Given the description of an element on the screen output the (x, y) to click on. 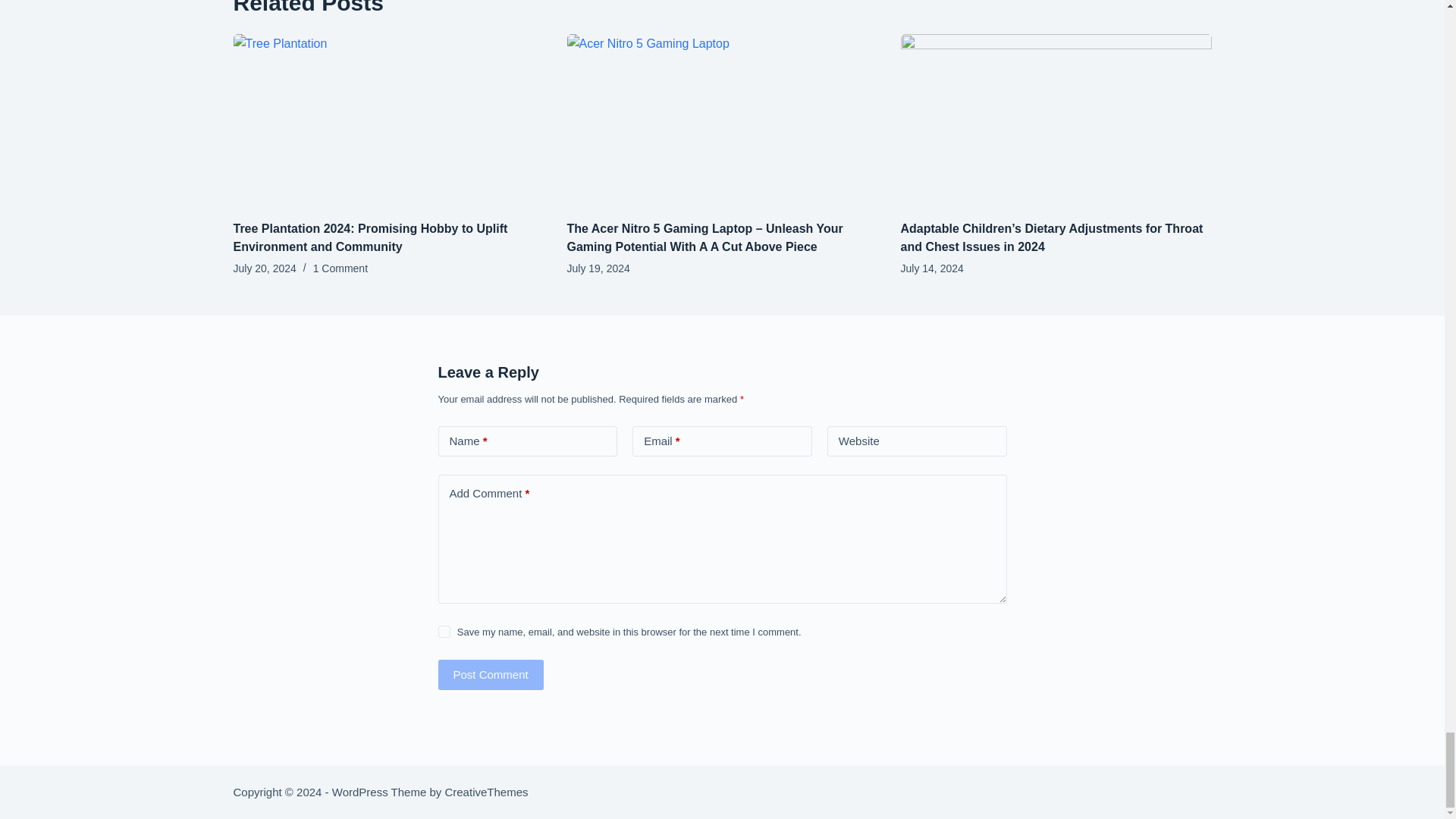
yes (443, 631)
